Given the description of an element on the screen output the (x, y) to click on. 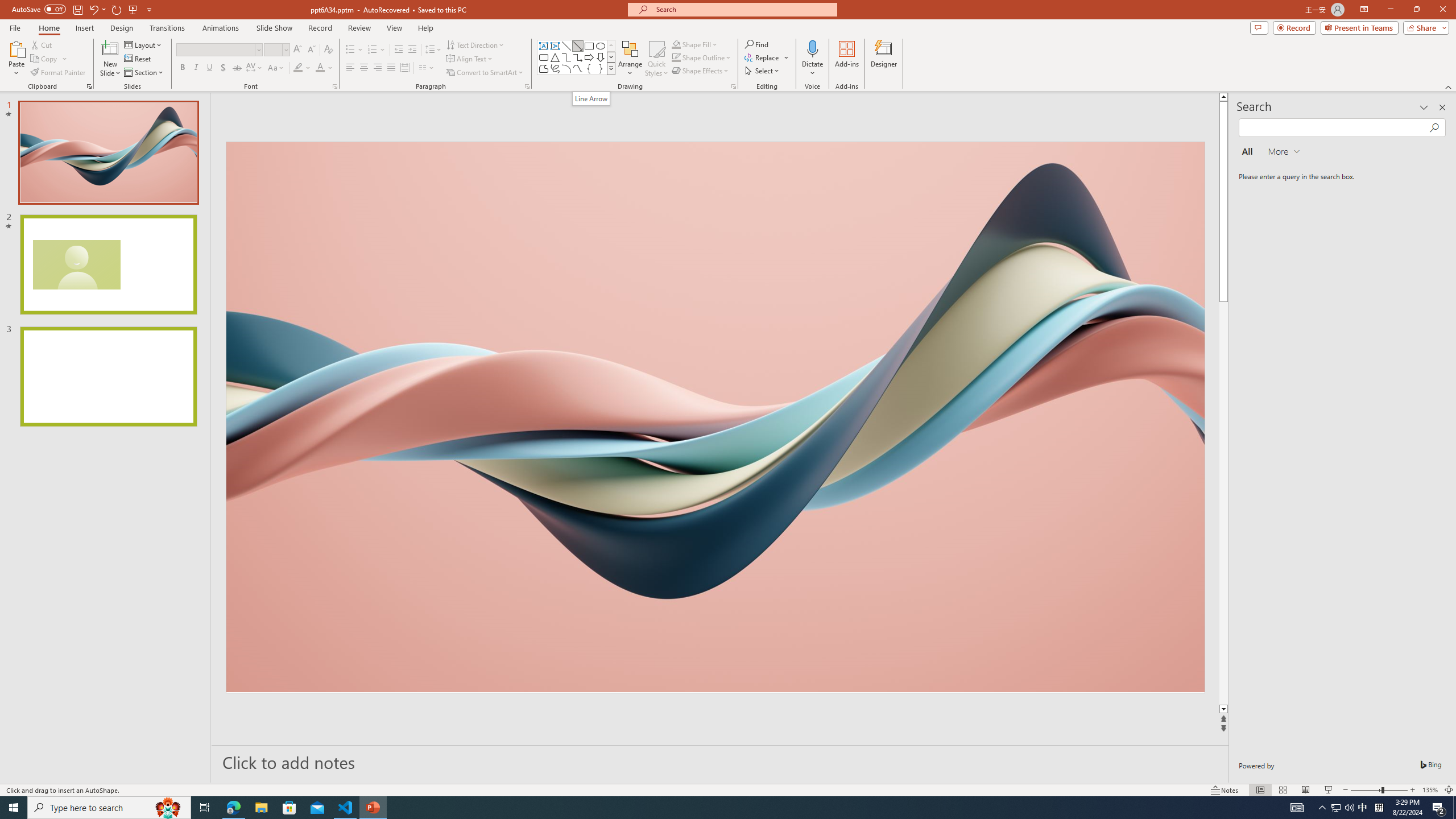
Replace... (767, 56)
Arrow: Down (600, 57)
Microsoft search (742, 9)
Font (215, 49)
Increase Indent (412, 49)
Layout (143, 44)
Shape Fill (675, 44)
Row Down (611, 56)
Italic (195, 67)
Decrease Font Size (310, 49)
Dictate (812, 48)
Character Spacing (254, 67)
Line (566, 45)
